Given the description of an element on the screen output the (x, y) to click on. 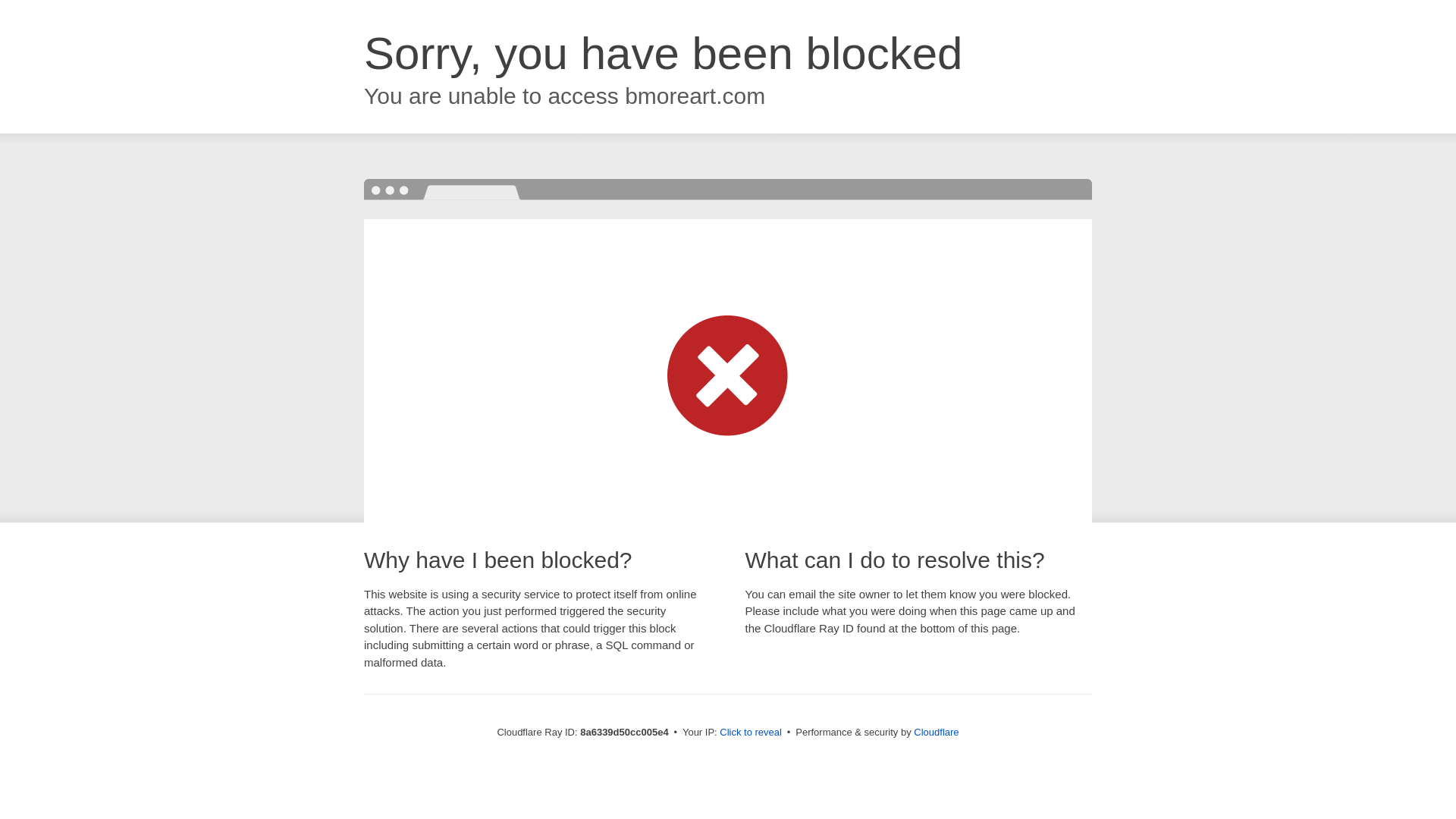
Cloudflare (936, 731)
Click to reveal (750, 732)
